Given the description of an element on the screen output the (x, y) to click on. 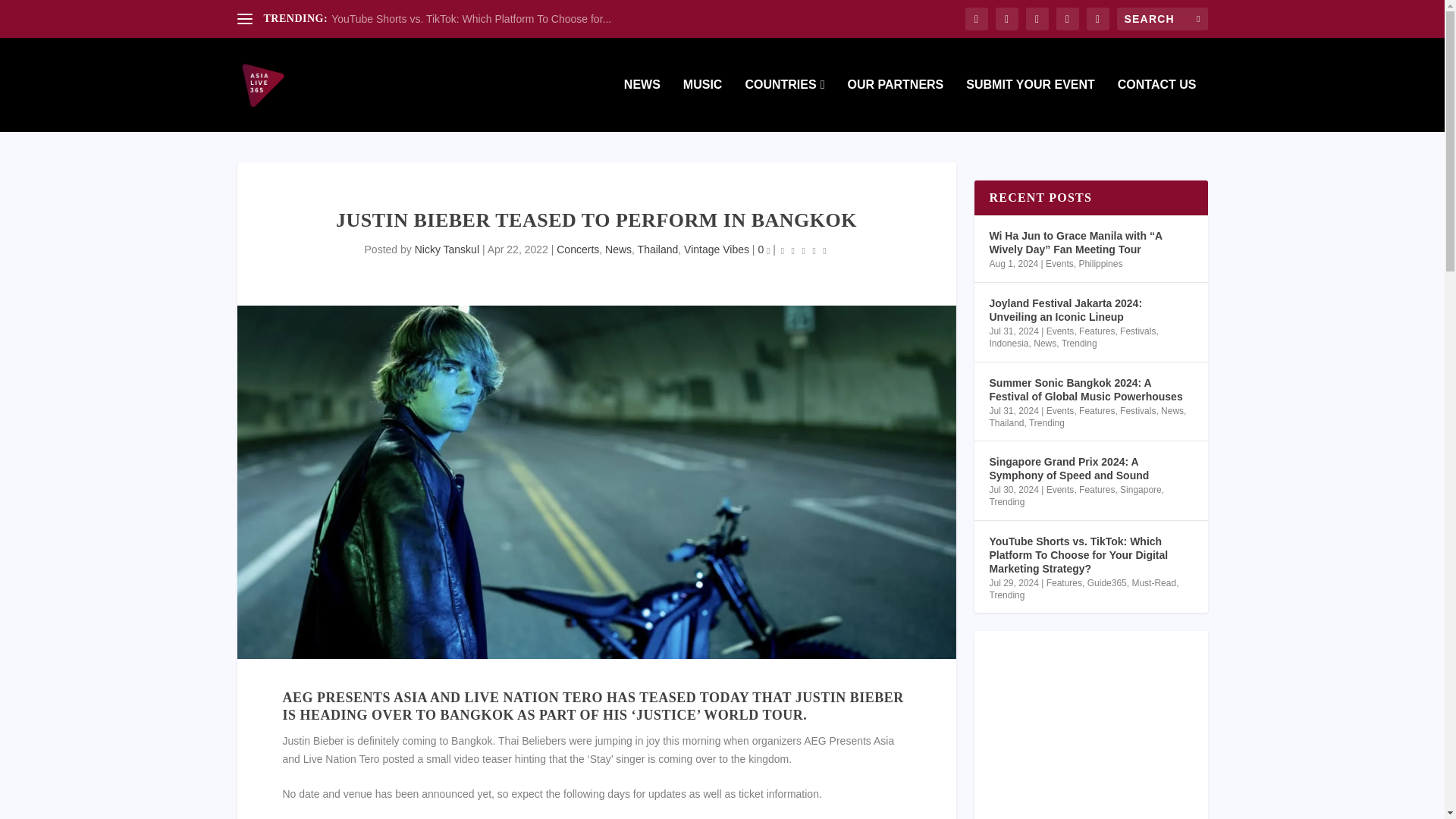
OUR PARTNERS (895, 104)
Search for: (1161, 18)
Concerts (577, 249)
CONTACT US (1157, 104)
COUNTRIES (784, 104)
Posts by Nicky Tanskul (446, 249)
Thailand (657, 249)
Rating: 0.00 (803, 250)
Nicky Tanskul (446, 249)
SUBMIT YOUR EVENT (1030, 104)
